Given the description of an element on the screen output the (x, y) to click on. 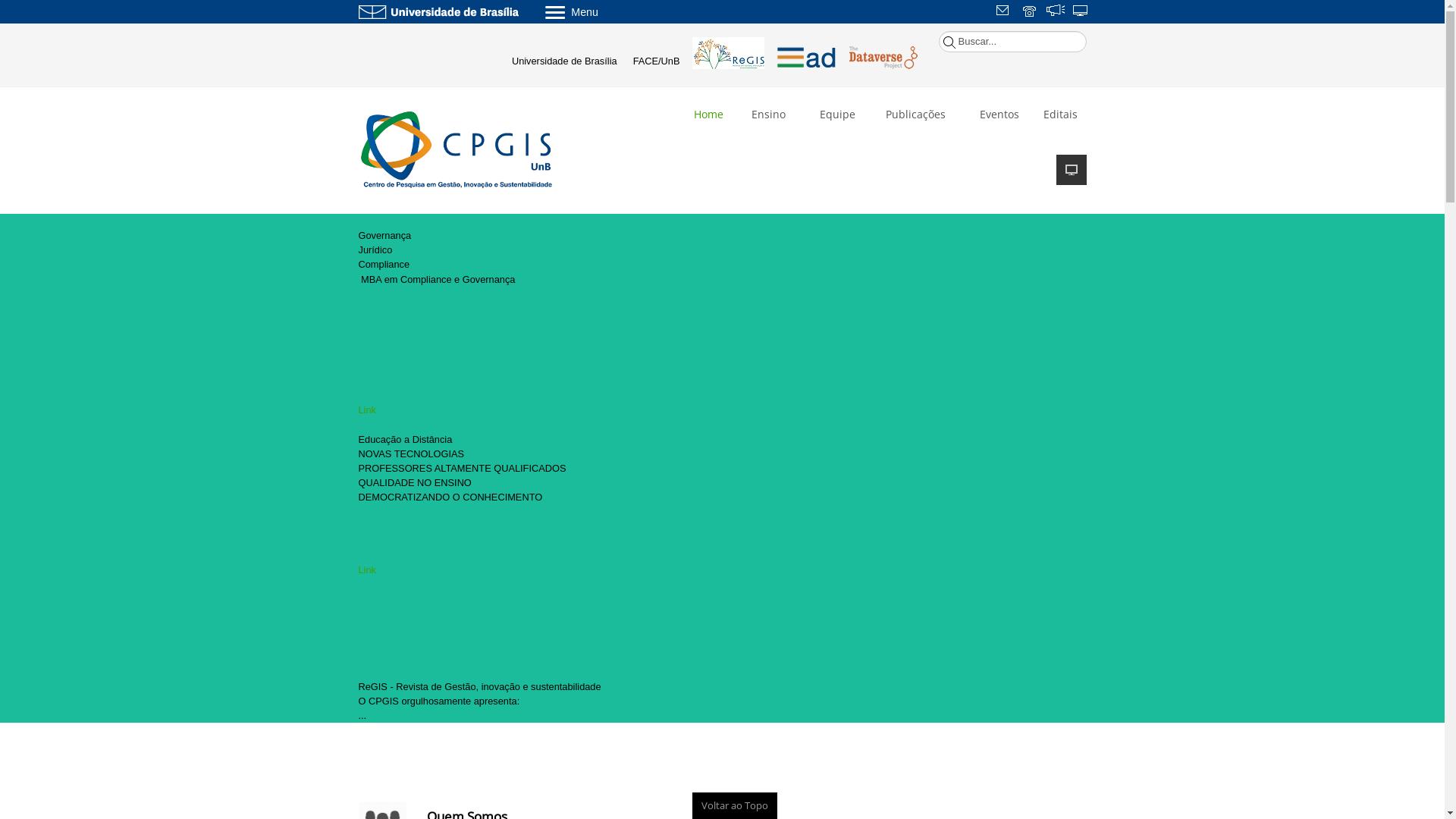
Eventos Element type: text (996, 113)
  Element type: text (1081, 11)
Link Element type: text (366, 569)
Webmail Element type: hover (1004, 11)
  Element type: text (1030, 11)
Sistemas Element type: hover (1081, 11)
Telefones da UnB Element type: hover (1030, 11)
Equipe Element type: text (835, 113)
Fala.BR Element type: hover (1055, 11)
Menu Element type: text (610, 10)
Home Element type: text (706, 120)
Link Element type: text (366, 409)
  Element type: text (1055, 11)
Editais Element type: text (1060, 120)
Ir para o Portal da UnB Element type: hover (438, 10)
  Element type: text (1004, 11)
Ensino Element type: text (766, 113)
FACE/UnB Element type: text (654, 61)
